Given the description of an element on the screen output the (x, y) to click on. 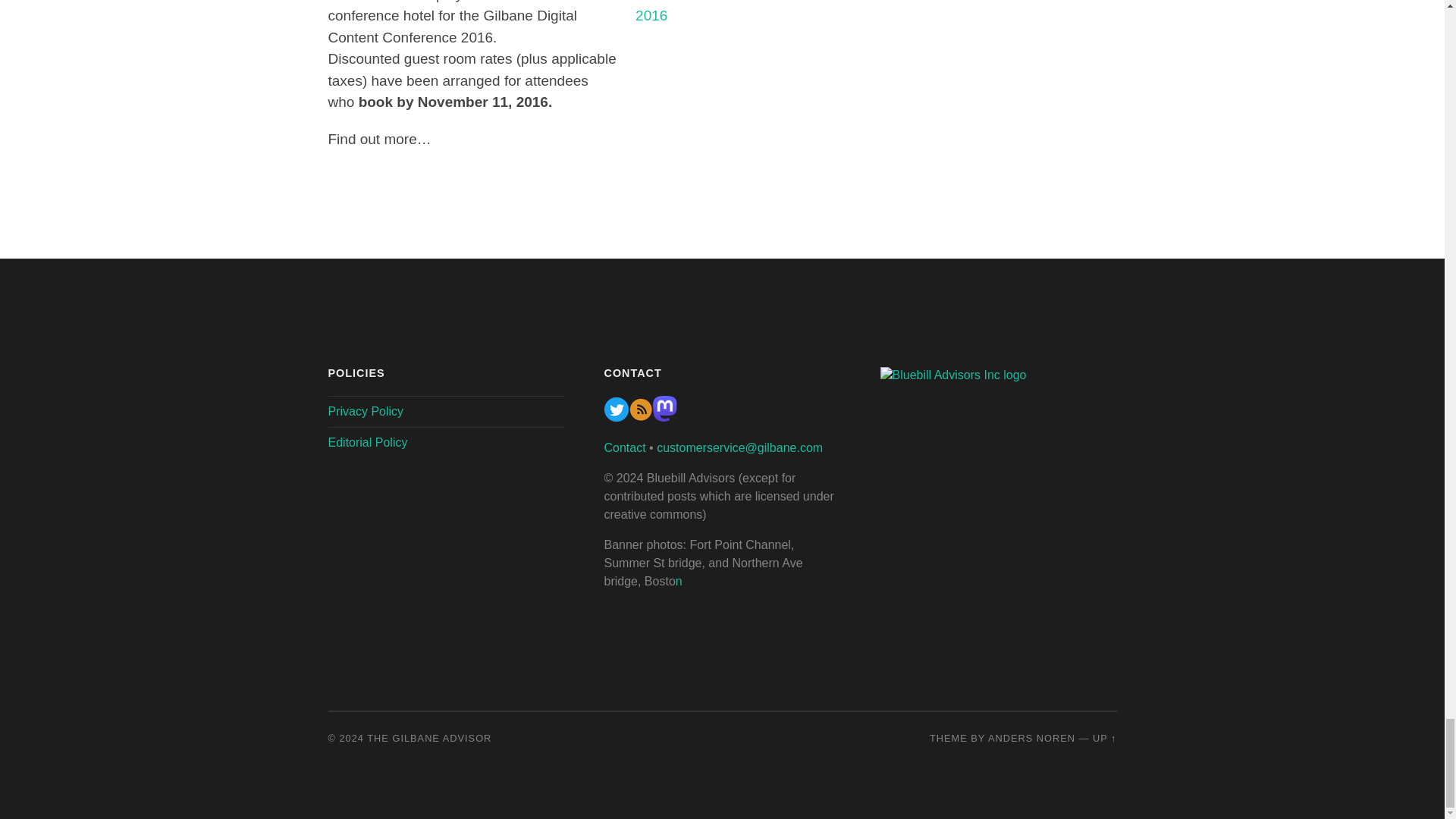
Mastadon-logo-purple-32x34 (664, 417)
Gilbane twitter feed (615, 417)
To the top (1104, 737)
